Given the description of an element on the screen output the (x, y) to click on. 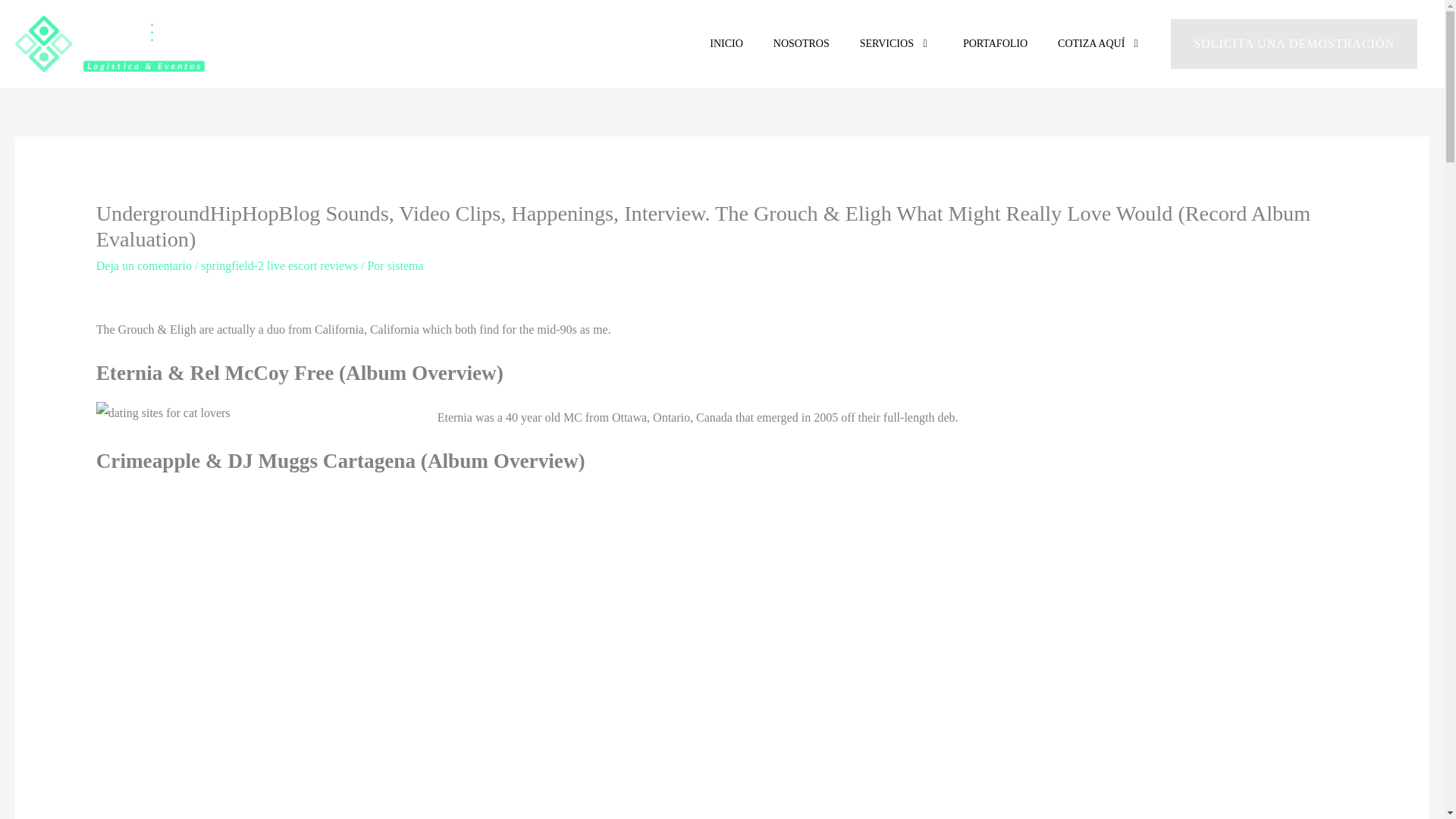
NOSOTROS (801, 44)
sistema (405, 265)
springfield-2 live escort reviews (279, 265)
INICIO (726, 44)
Ver todas las entradas de sistema (405, 265)
Deja un comentario (144, 265)
PORTAFOLIO (994, 44)
